Given the description of an element on the screen output the (x, y) to click on. 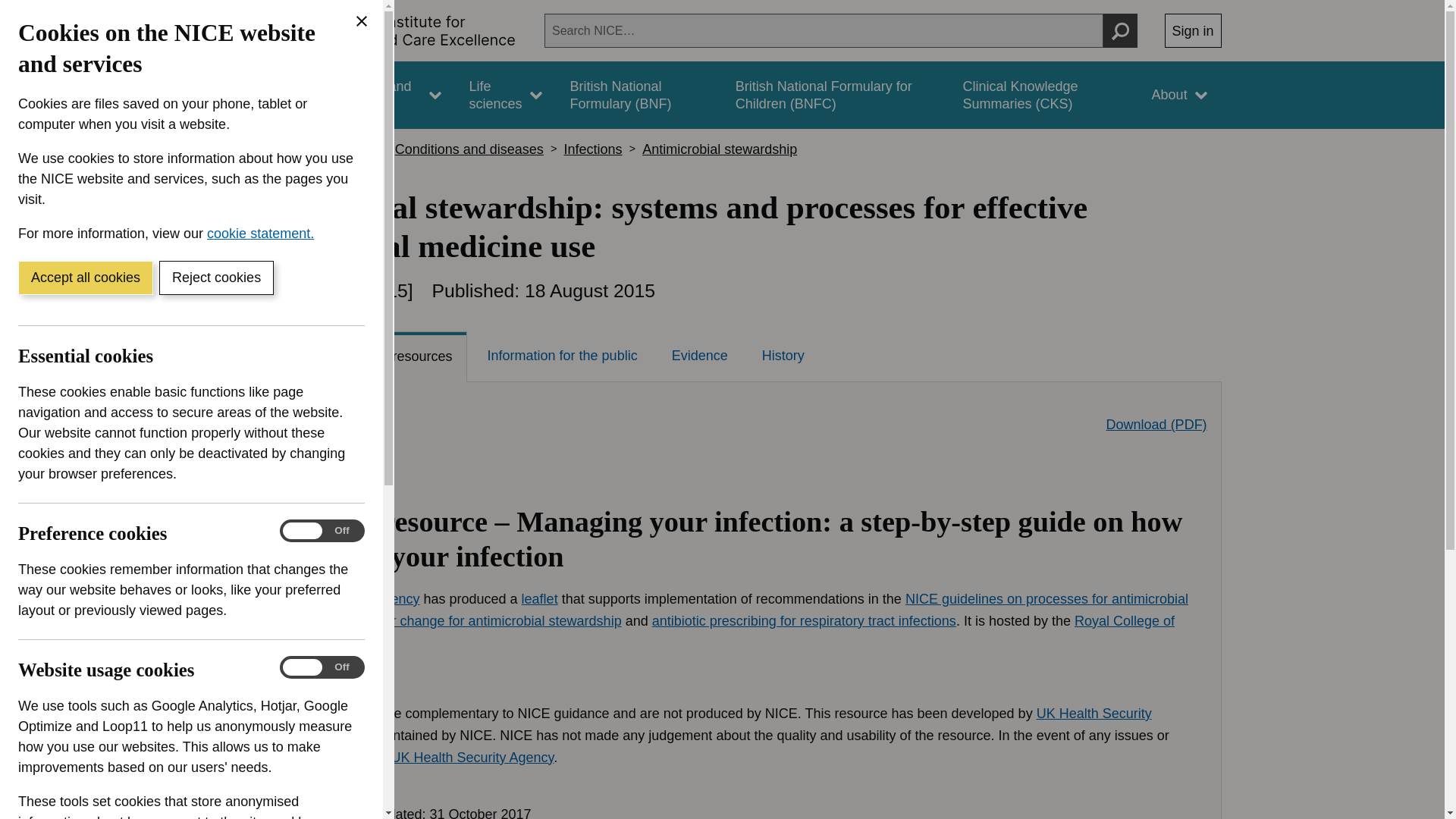
Standards and indicators (381, 94)
Life sciences (505, 94)
Guidance (265, 94)
Accept all cookies (84, 277)
Sign in (1192, 30)
Reject cookies (215, 277)
